Given the description of an element on the screen output the (x, y) to click on. 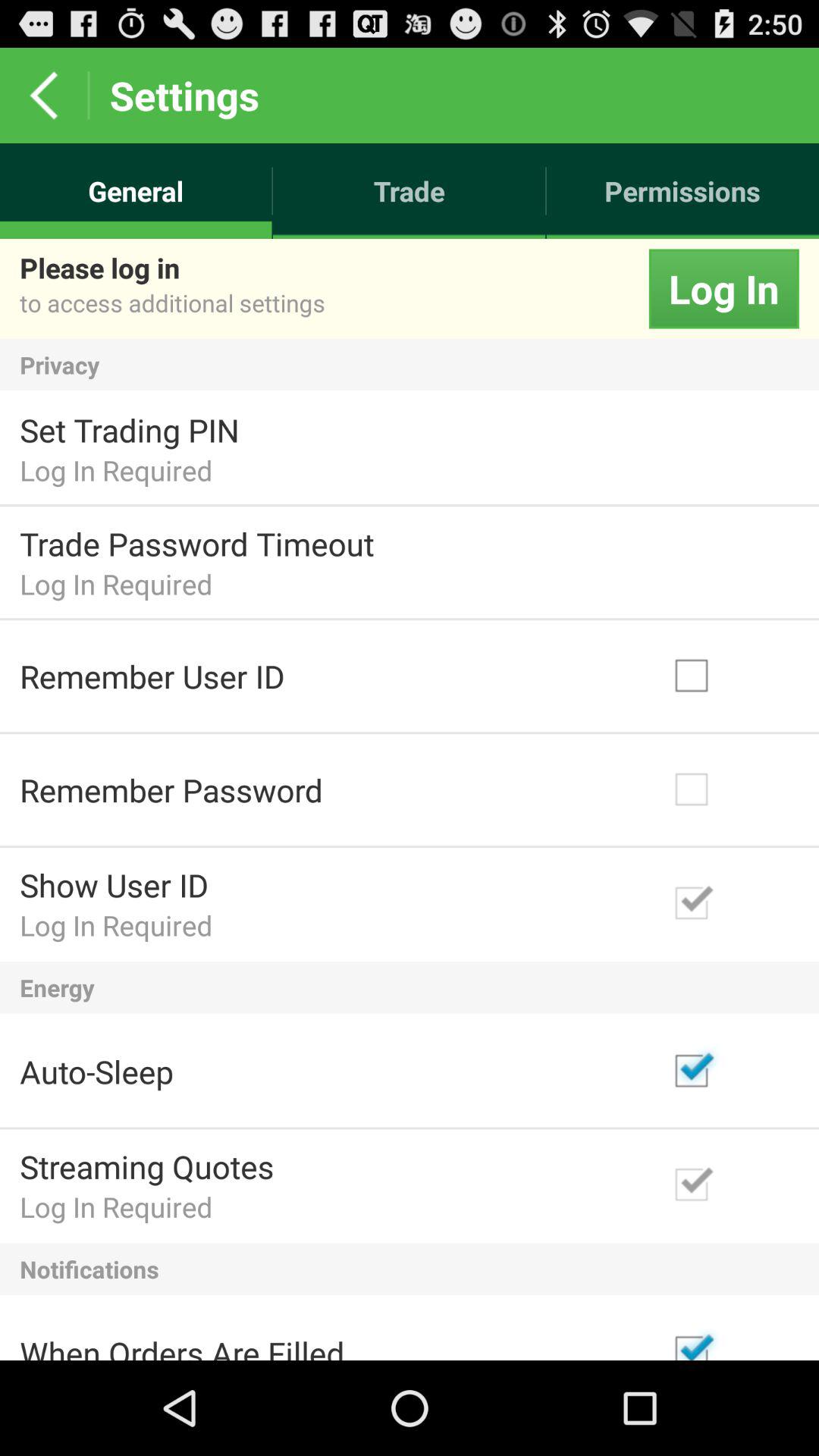
turn on the item above the log in required app (196, 543)
